Given the description of an element on the screen output the (x, y) to click on. 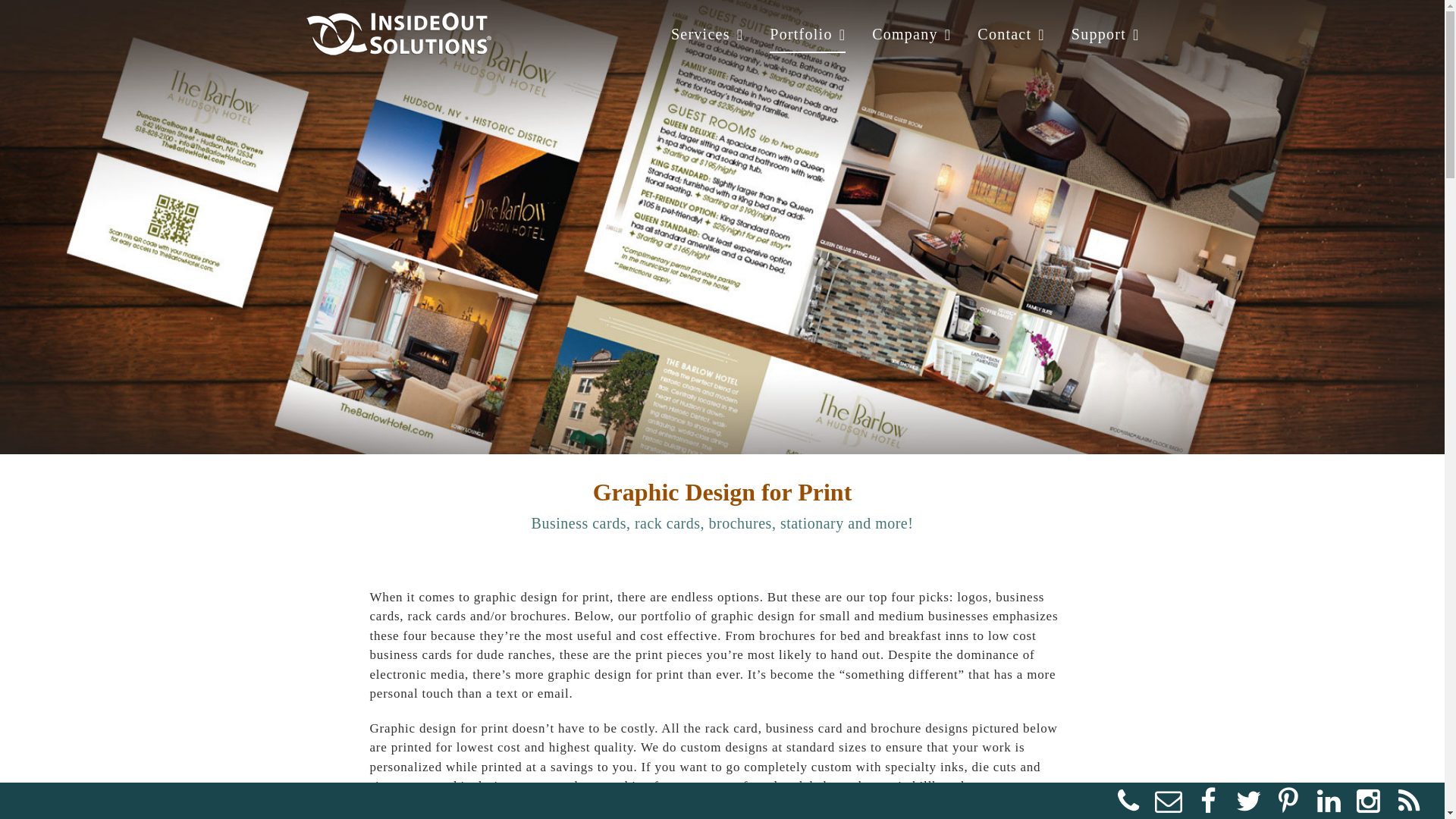
Contact (1010, 33)
Portfolio (807, 33)
Support (1105, 33)
Services (706, 33)
Company (911, 33)
